Given the description of an element on the screen output the (x, y) to click on. 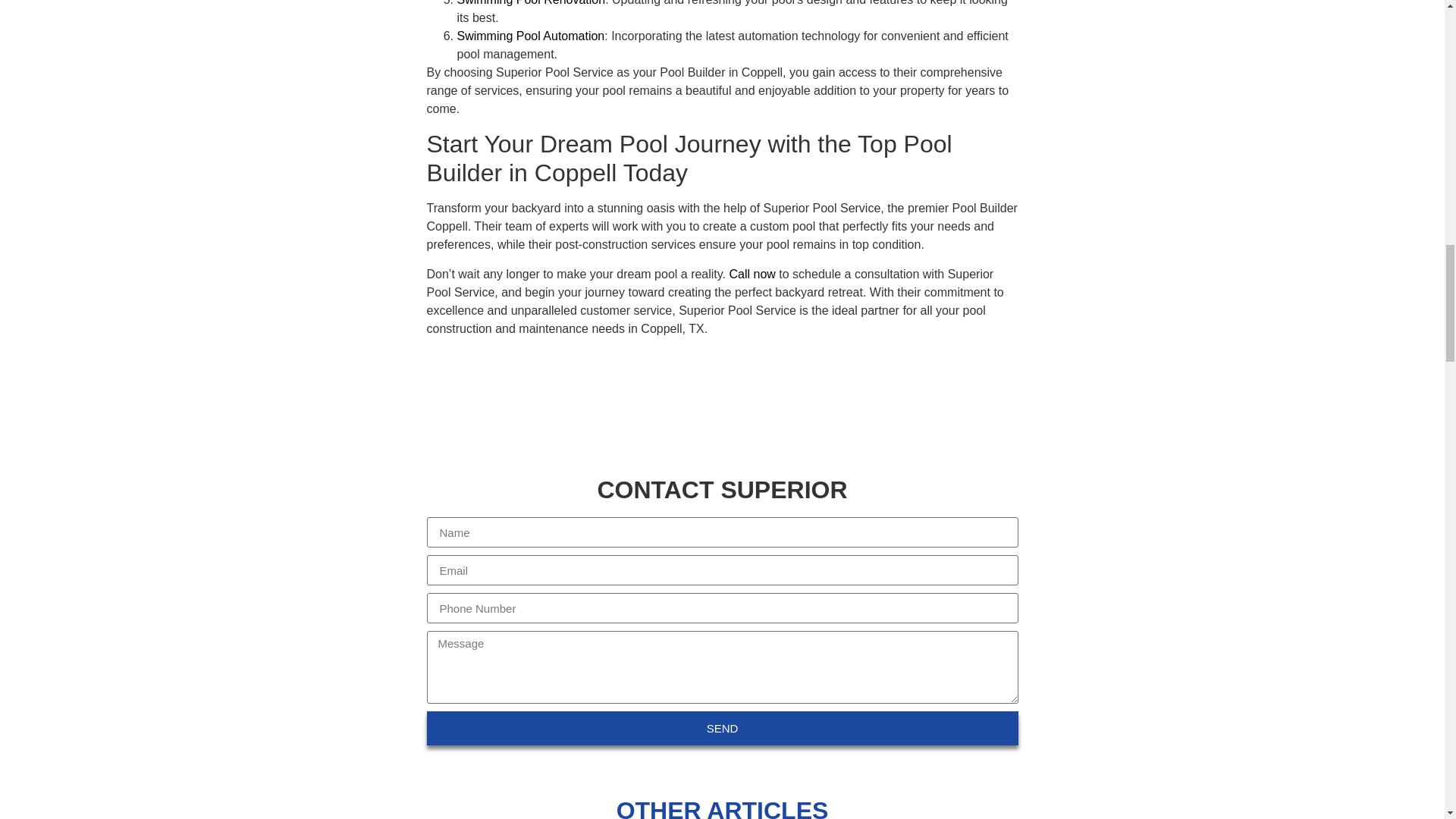
Call now (752, 273)
SEND (721, 728)
Swimming Pool Automation (530, 35)
Swimming Pool Renovation (531, 2)
